Given the description of an element on the screen output the (x, y) to click on. 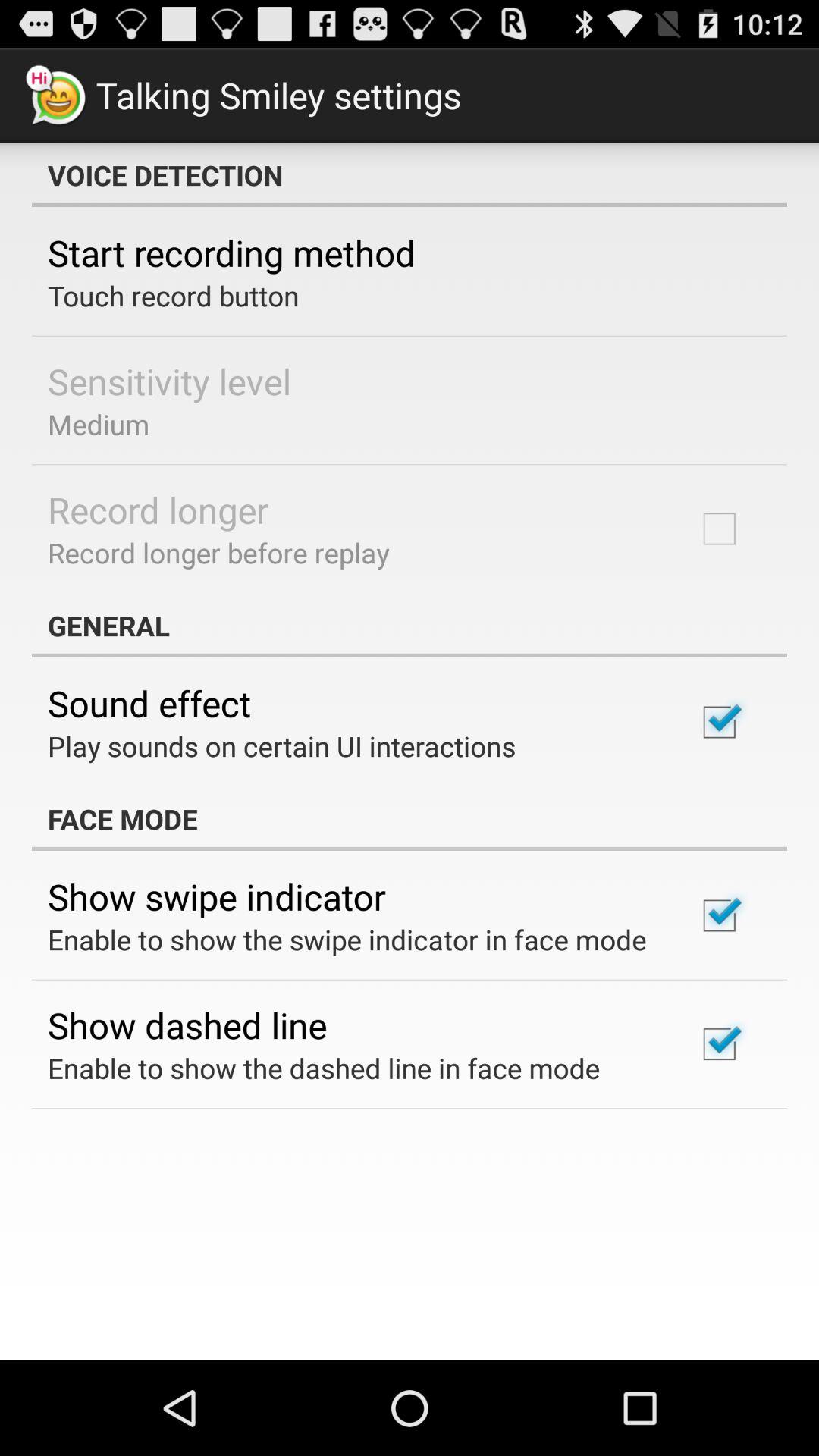
open the item above the record longer (98, 424)
